Given the description of an element on the screen output the (x, y) to click on. 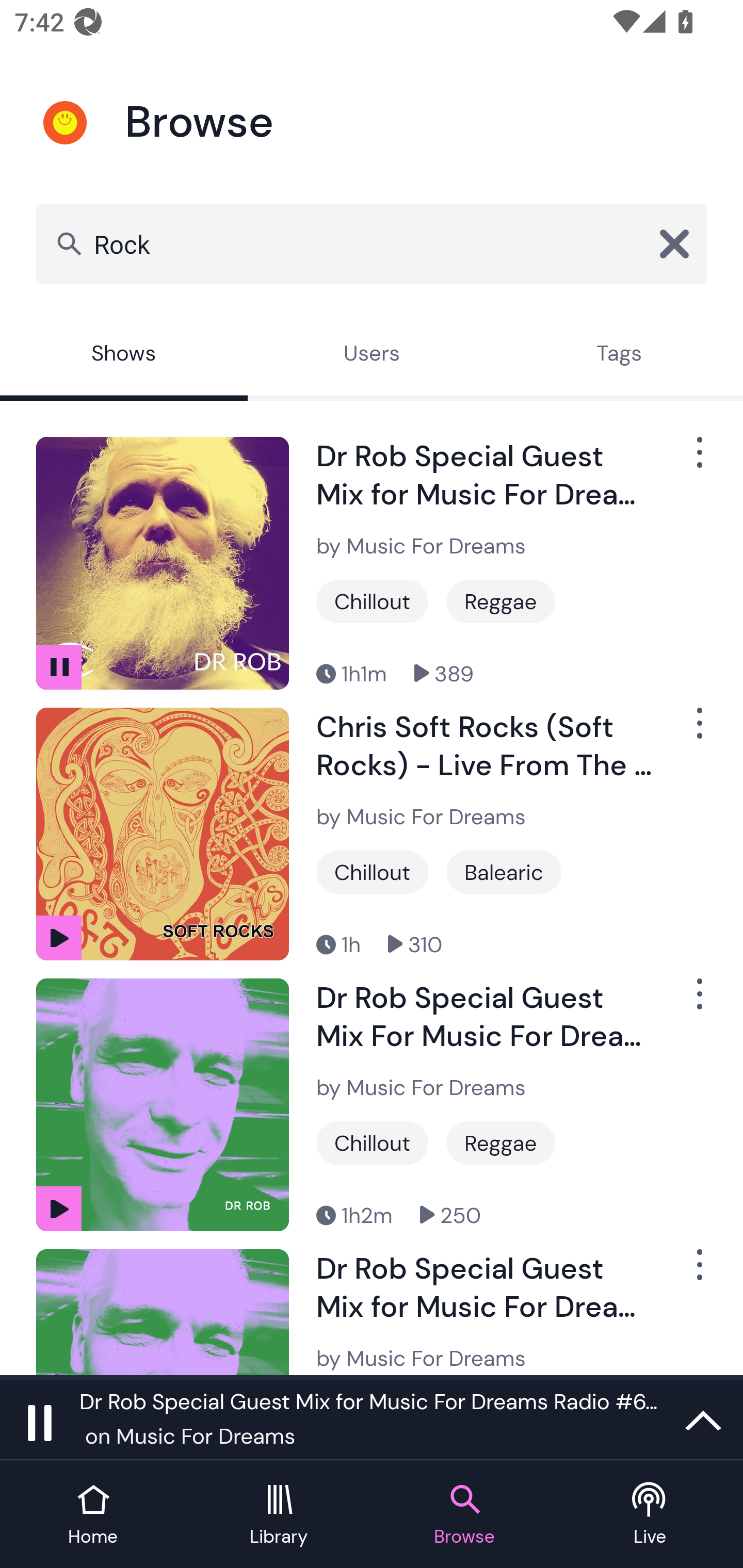
Rock (371, 243)
Shows (123, 355)
Users (371, 355)
Tags (619, 355)
Show Options Menu Button (697, 460)
Chillout (371, 601)
Reggae (500, 601)
Show Options Menu Button (697, 730)
Chillout (371, 871)
Balearic (503, 871)
Show Options Menu Button (697, 1001)
Chillout (371, 1143)
Reggae (500, 1143)
Show Options Menu Button (697, 1272)
Home tab Home (92, 1515)
Library tab Library (278, 1515)
Browse tab Browse (464, 1515)
Live tab Live (650, 1515)
